Given the description of an element on the screen output the (x, y) to click on. 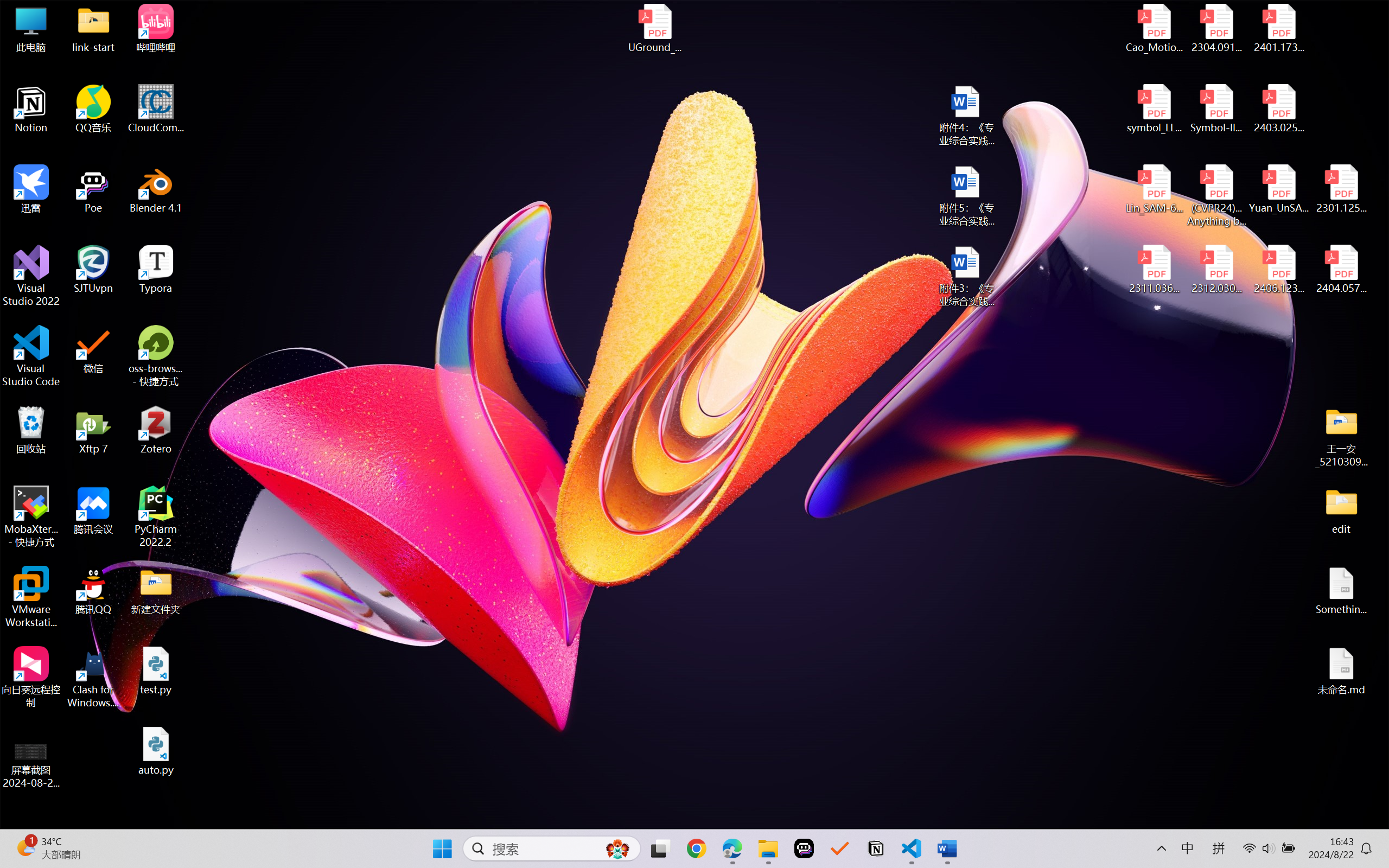
Visual Studio 2022 (31, 276)
2406.12373v2.pdf (1278, 269)
Xftp 7 (93, 430)
test.py (156, 670)
